Given the description of an element on the screen output the (x, y) to click on. 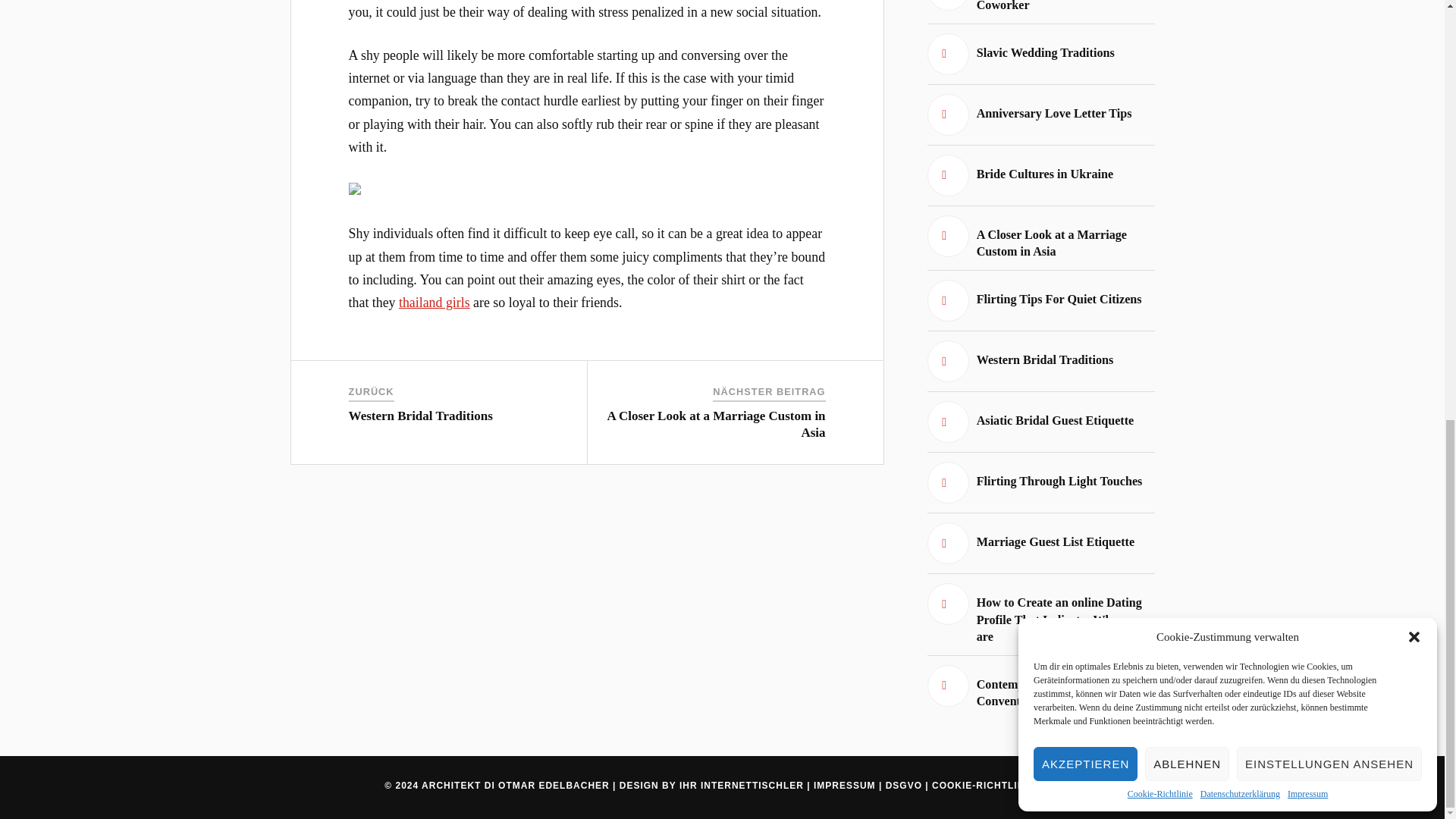
Flirting Tips For Quiet Citizens (1040, 300)
Western Bridal Traditions (1040, 361)
A Closer Look at a Marriage Custom in Asia (716, 423)
thailand girls (434, 302)
Slavic Wedding Traditions (1040, 54)
Anniversary Love Letter Tips (1040, 114)
Western Bridal Traditions (421, 415)
A Closer Look at a Marriage Custom in Asia (1040, 238)
Dating Guidelines at Work for a Coworker (1040, 7)
Bride Cultures in Ukraine (1040, 175)
